Given the description of an element on the screen output the (x, y) to click on. 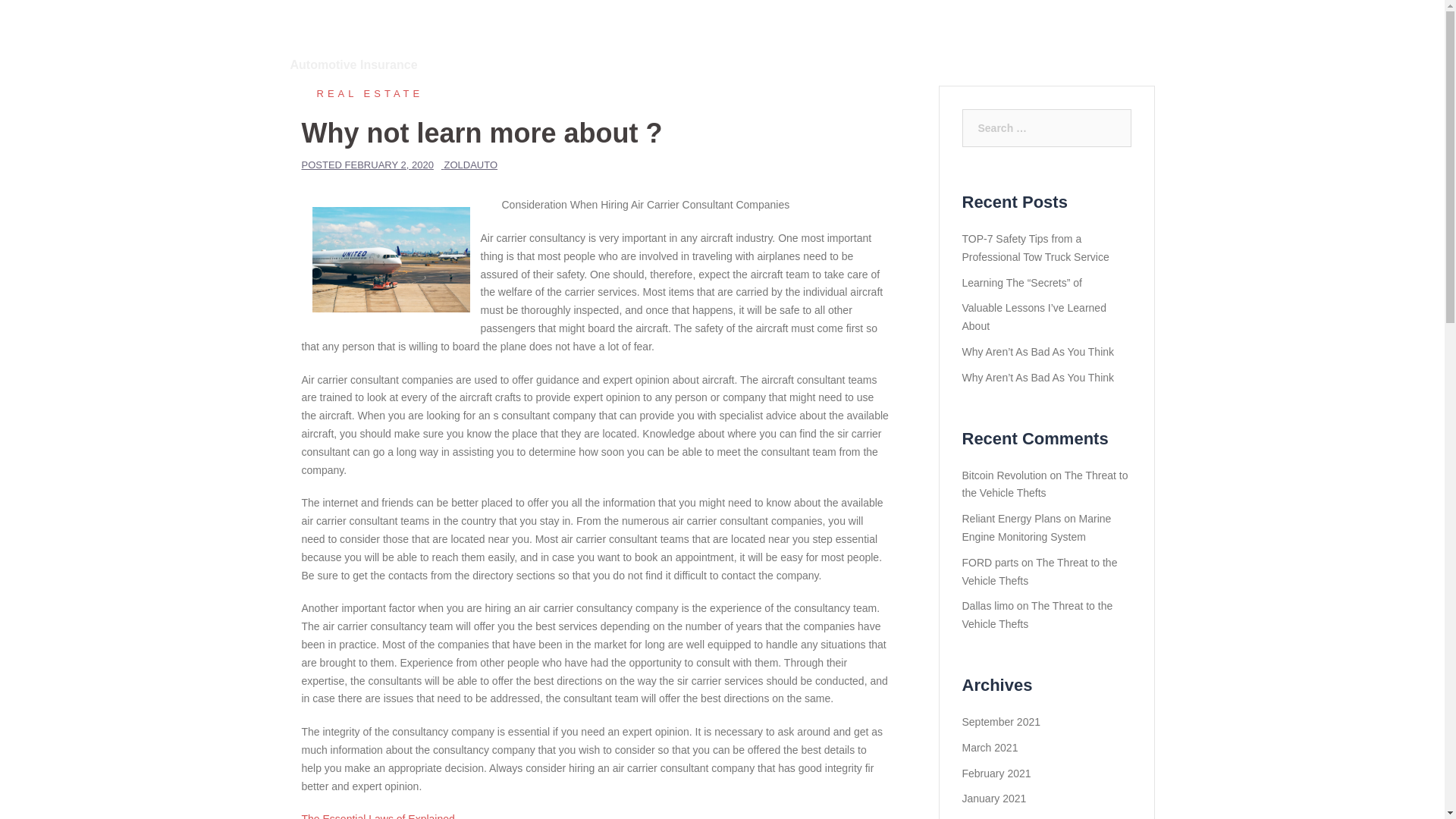
FEBRUARY 2, 2020 (389, 164)
Marine Engine Monitoring System (1035, 527)
The Essential Laws of Explained (377, 816)
ZOLDAUTO (470, 164)
Search (47, 18)
Bitcoin Revolution (1003, 475)
January 2021 (993, 798)
Dallas limo (986, 605)
FORD parts (988, 562)
February 2021 (995, 773)
TOP-7 Safety Tips from a Professional Tow Truck Service (1034, 247)
Real Estate (362, 93)
The Threat to the Vehicle Thefts (1043, 484)
Reliant Energy Plans (1010, 518)
